Given the description of an element on the screen output the (x, y) to click on. 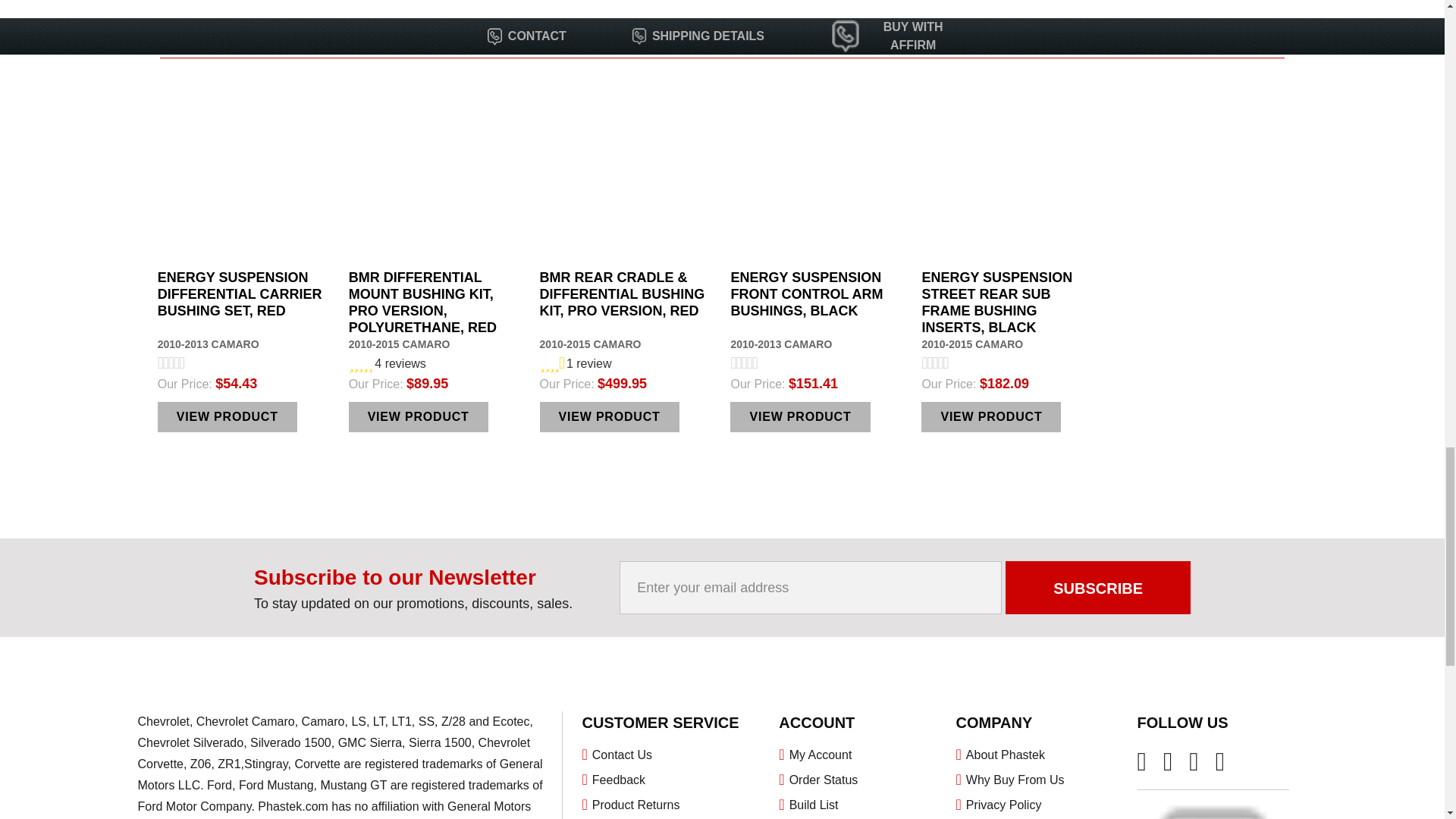
Subscribe (1098, 587)
